Given the description of an element on the screen output the (x, y) to click on. 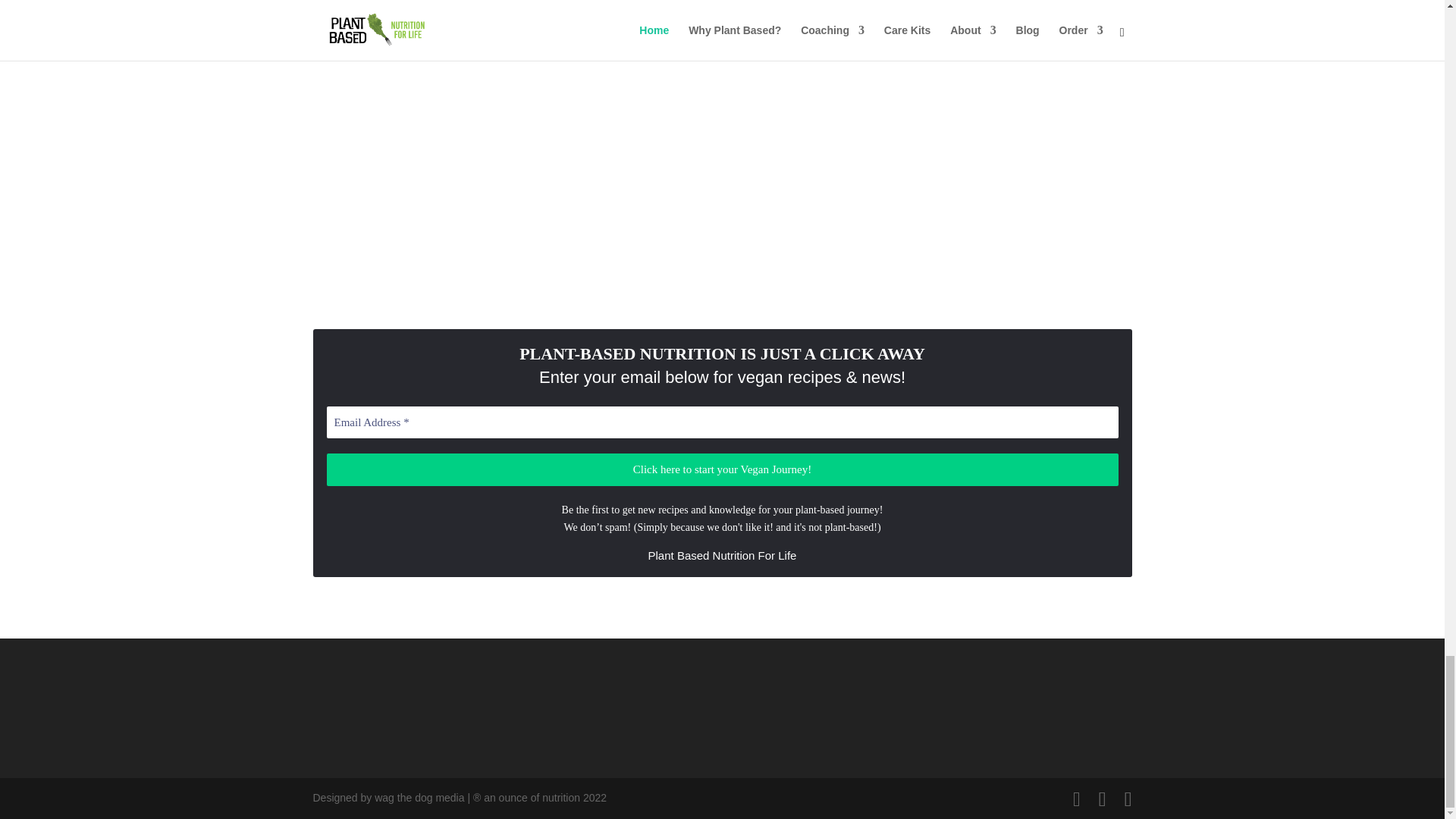
Click here to start your Vegan Journey! (722, 469)
Click here to start your Vegan Journey! (722, 469)
Email Address (722, 422)
